Given the description of an element on the screen output the (x, y) to click on. 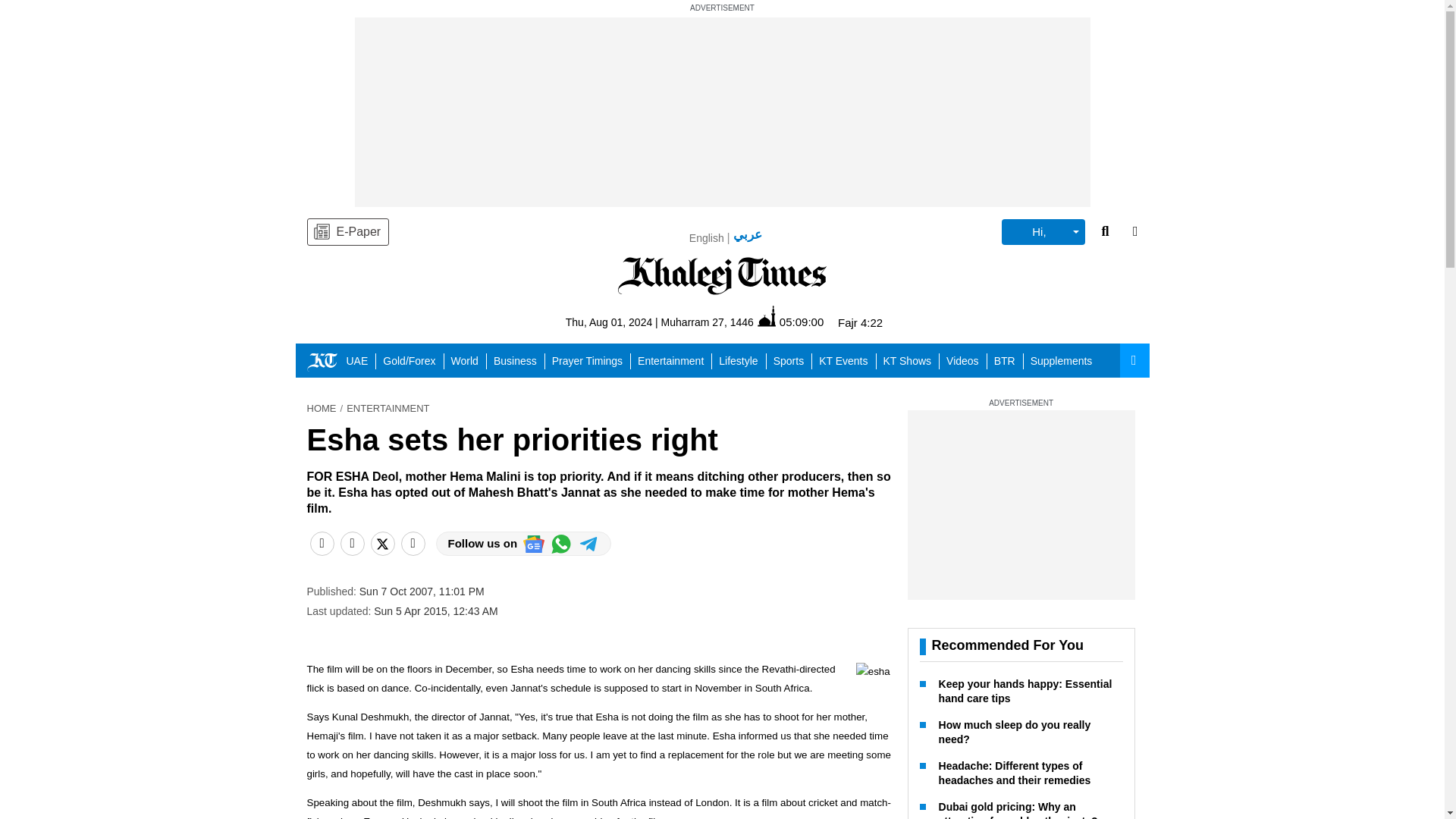
Sign In (1052, 233)
E-Paper (346, 231)
Maghrib 19:05 (846, 326)
02:54:58 (763, 324)
